Given the description of an element on the screen output the (x, y) to click on. 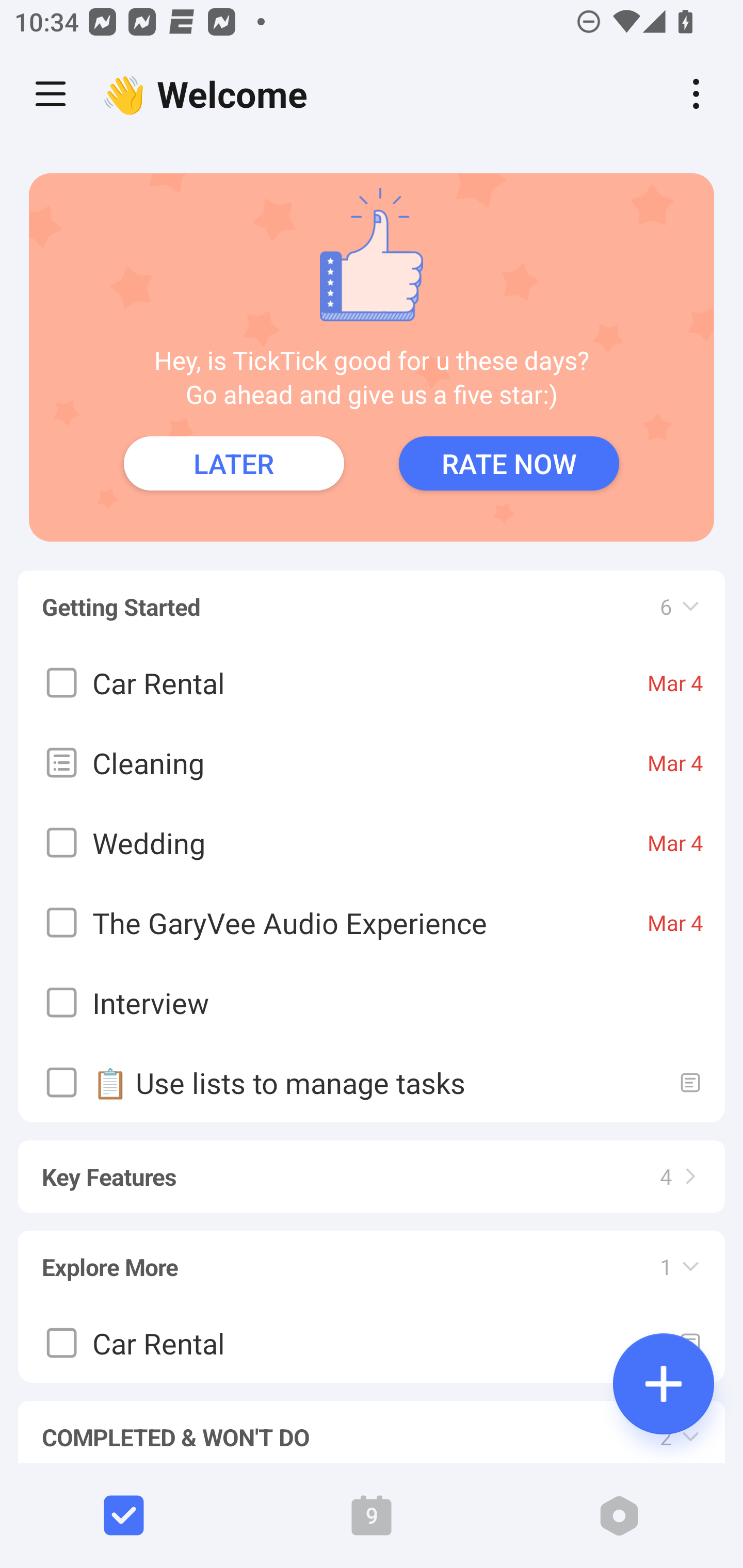
👋 Welcome (209, 93)
LATER (234, 462)
RATE NOW (508, 462)
Getting Started 6 (371, 596)
Car Rental Mar 4 (371, 682)
Mar 4 (675, 682)
Cleaning Mar 4 (371, 762)
Mar 4 (675, 762)
Wedding Mar 4 (371, 842)
Mar 4 (675, 842)
The GaryVee Audio Experience Mar 4 (371, 922)
Mar 4 (675, 922)
Interview (371, 1002)
📋 Use lists to manage tasks (371, 1082)
Key Features 4 (371, 1167)
Explore More 1 (371, 1257)
Car Rental (371, 1342)
COMPLETED & WON'T DO 2 (371, 1422)
